Given the description of an element on the screen output the (x, y) to click on. 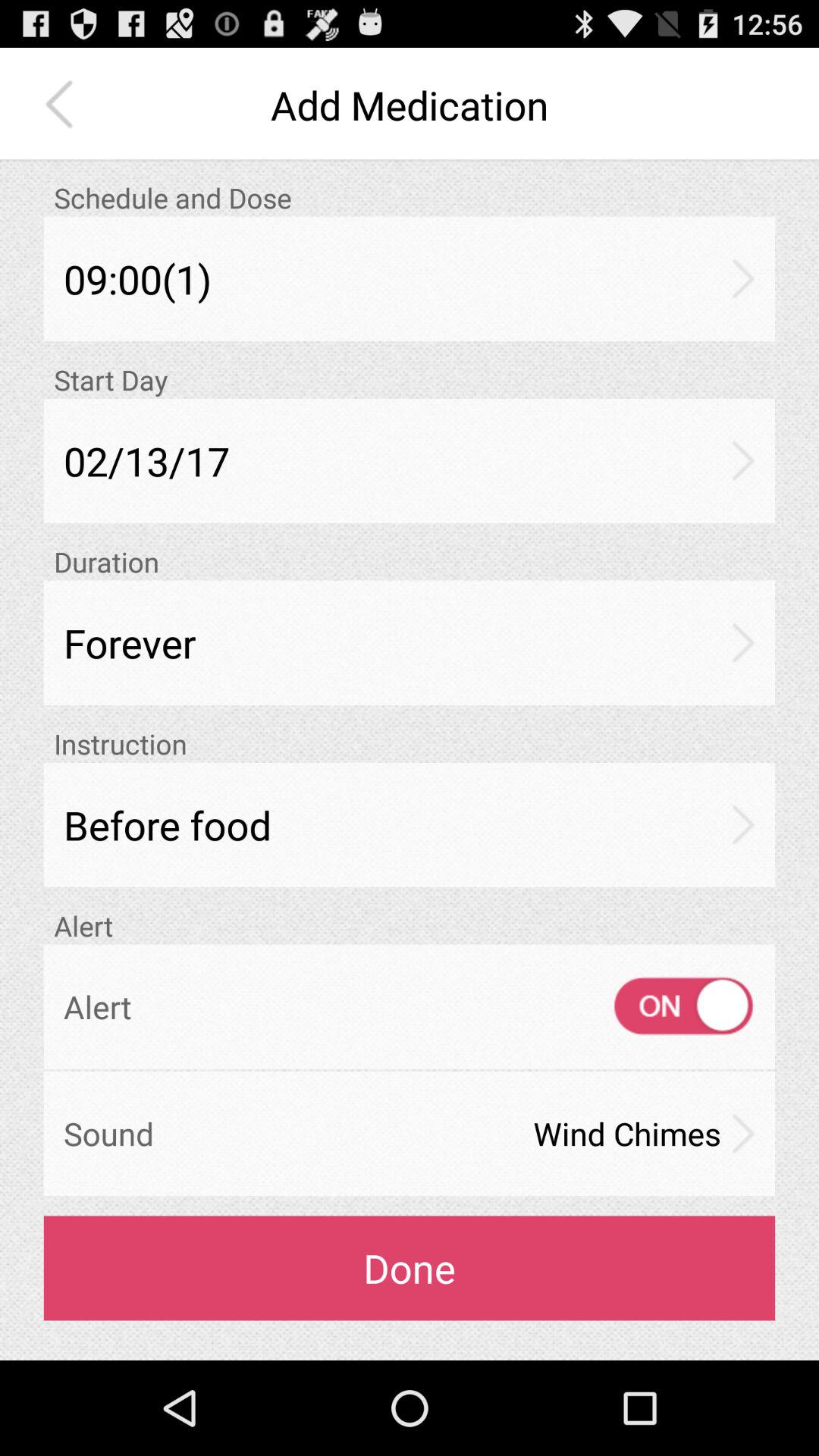
swipe until 02/13/17 app (409, 460)
